Given the description of an element on the screen output the (x, y) to click on. 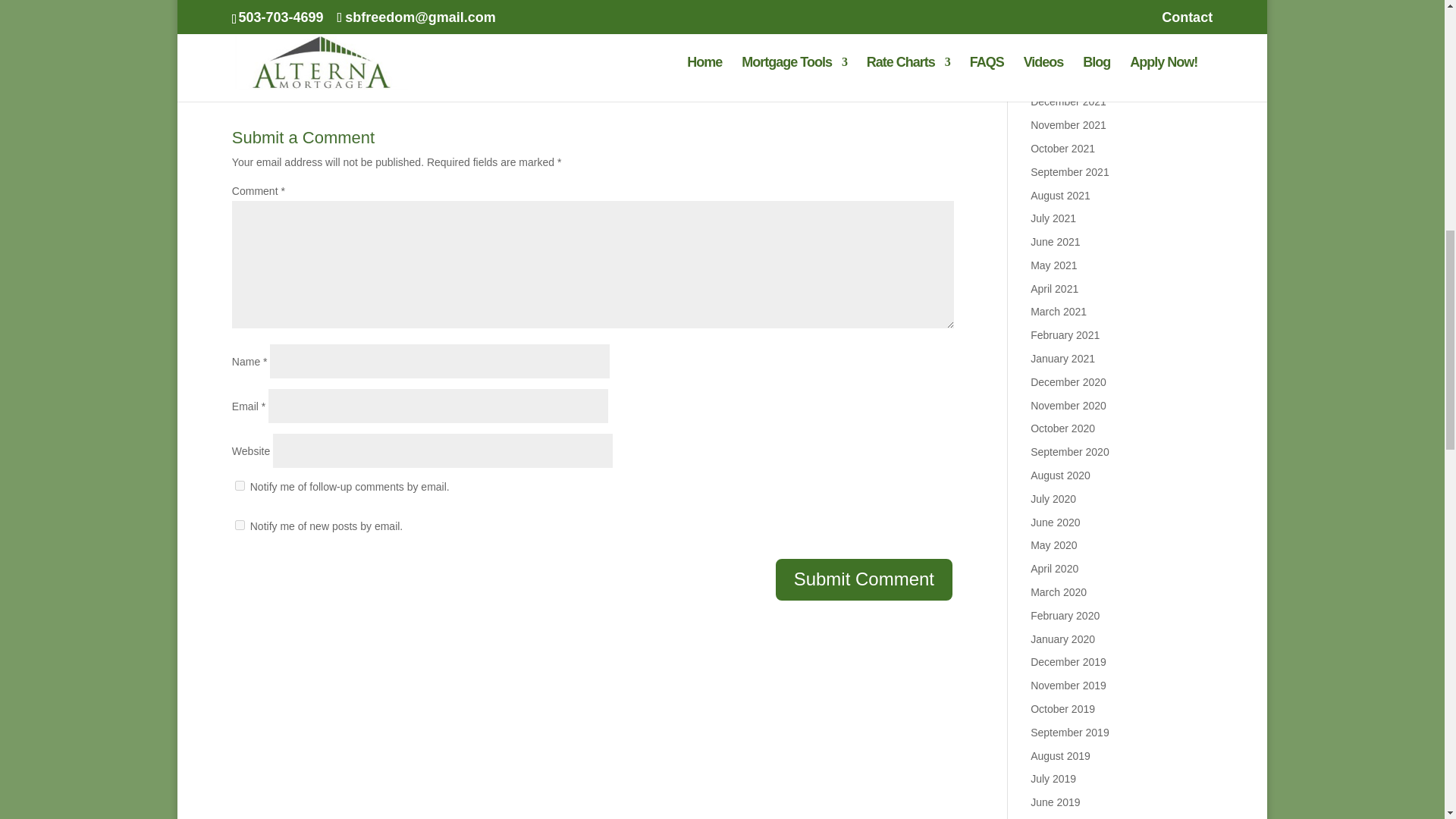
subscribe (239, 524)
subscribe (239, 485)
Submit Comment (863, 579)
Submit Comment (863, 579)
